Given the description of an element on the screen output the (x, y) to click on. 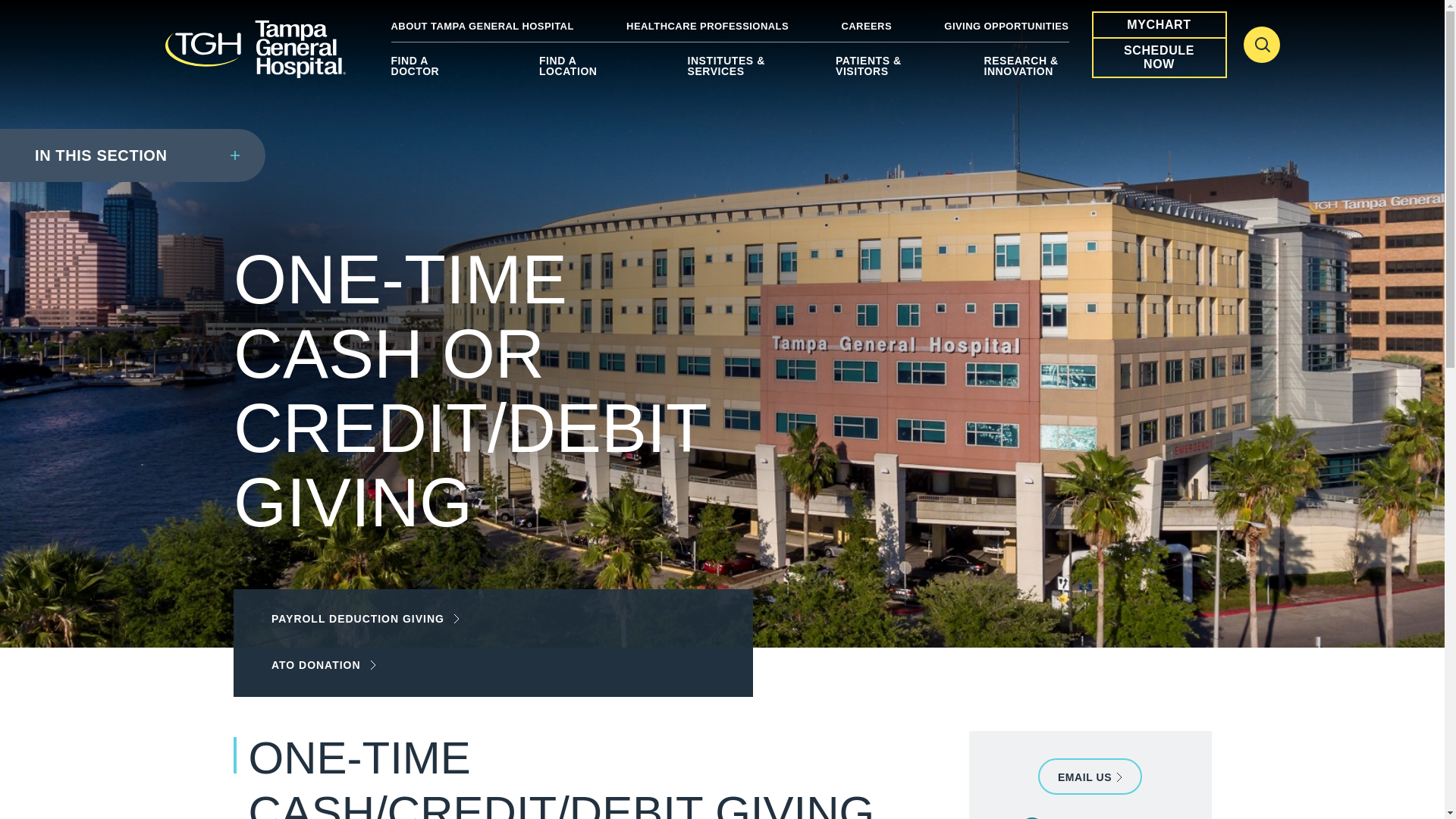
CAREERS (866, 25)
SCHEDULE NOW (1159, 57)
Toggle Main Search (1261, 44)
GIVING OPPORTUNITIES (1005, 25)
FIND A DOCTOR (433, 71)
ABOUT TAMPA GENERAL HOSPITAL (482, 25)
MYCHART (1159, 24)
HEALTHCARE PROFESSIONALS (707, 25)
FIND A LOCATION (581, 71)
